Given the description of an element on the screen output the (x, y) to click on. 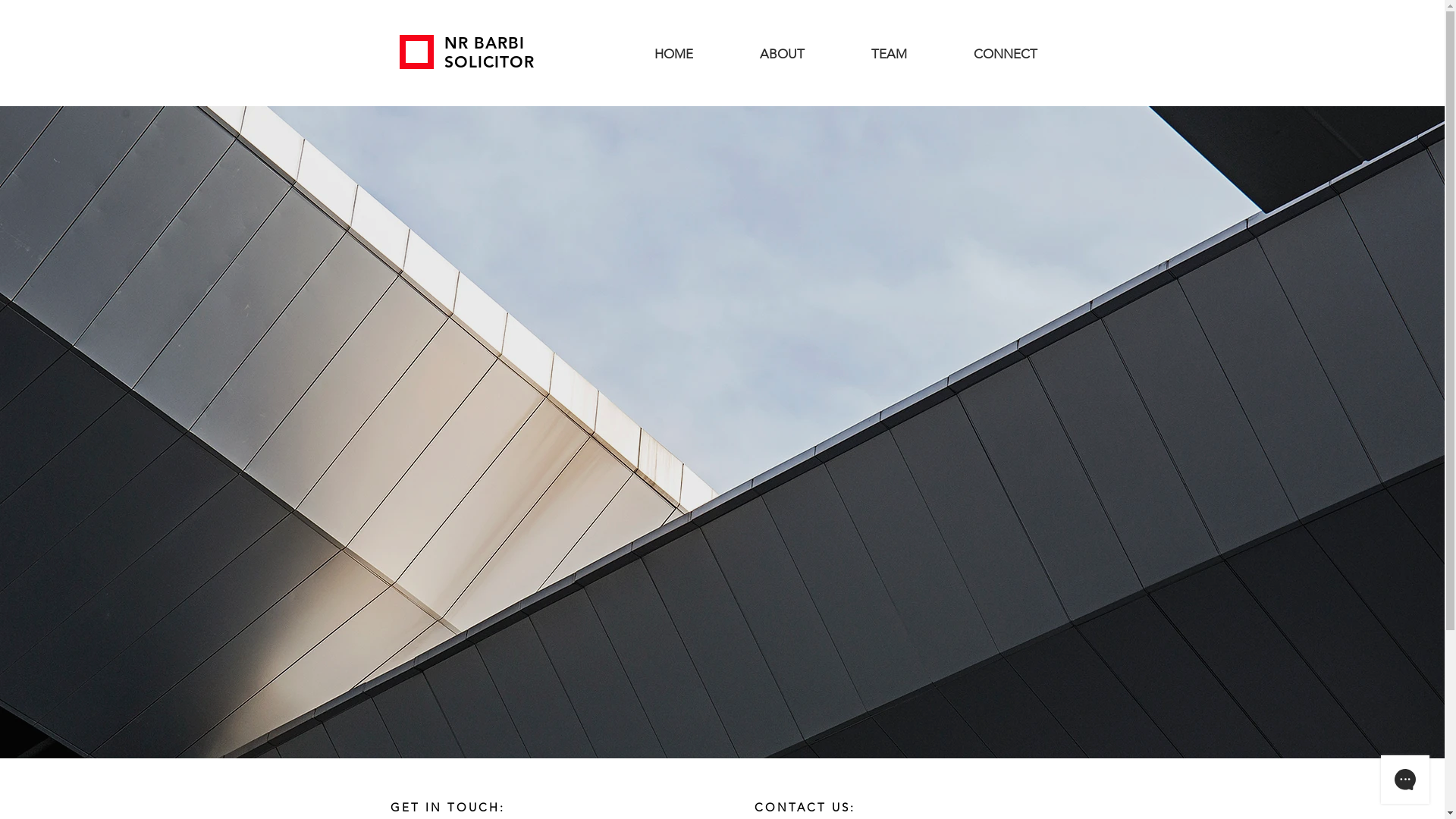
TEAM Element type: text (888, 52)
HOME Element type: text (672, 52)
NR BARBI SOLICITOR Element type: text (489, 52)
CONNECT Element type: text (1005, 52)
ABOUT Element type: text (781, 52)
